Given the description of an element on the screen output the (x, y) to click on. 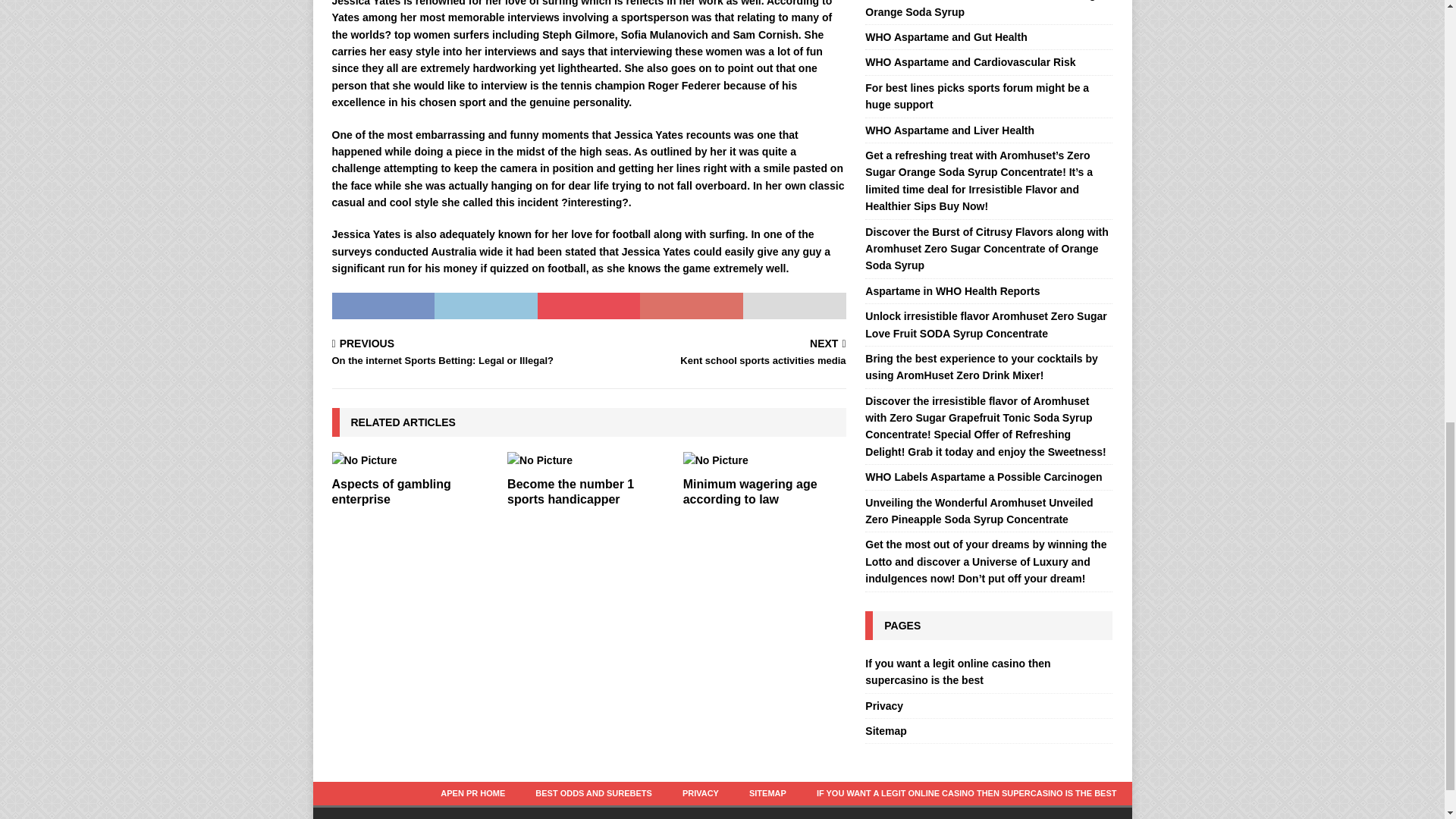
Aspects of gambling enterprise (391, 491)
Minimum wagering age according to law (749, 491)
Become the number 1 sports handicapper (457, 353)
